Given the description of an element on the screen output the (x, y) to click on. 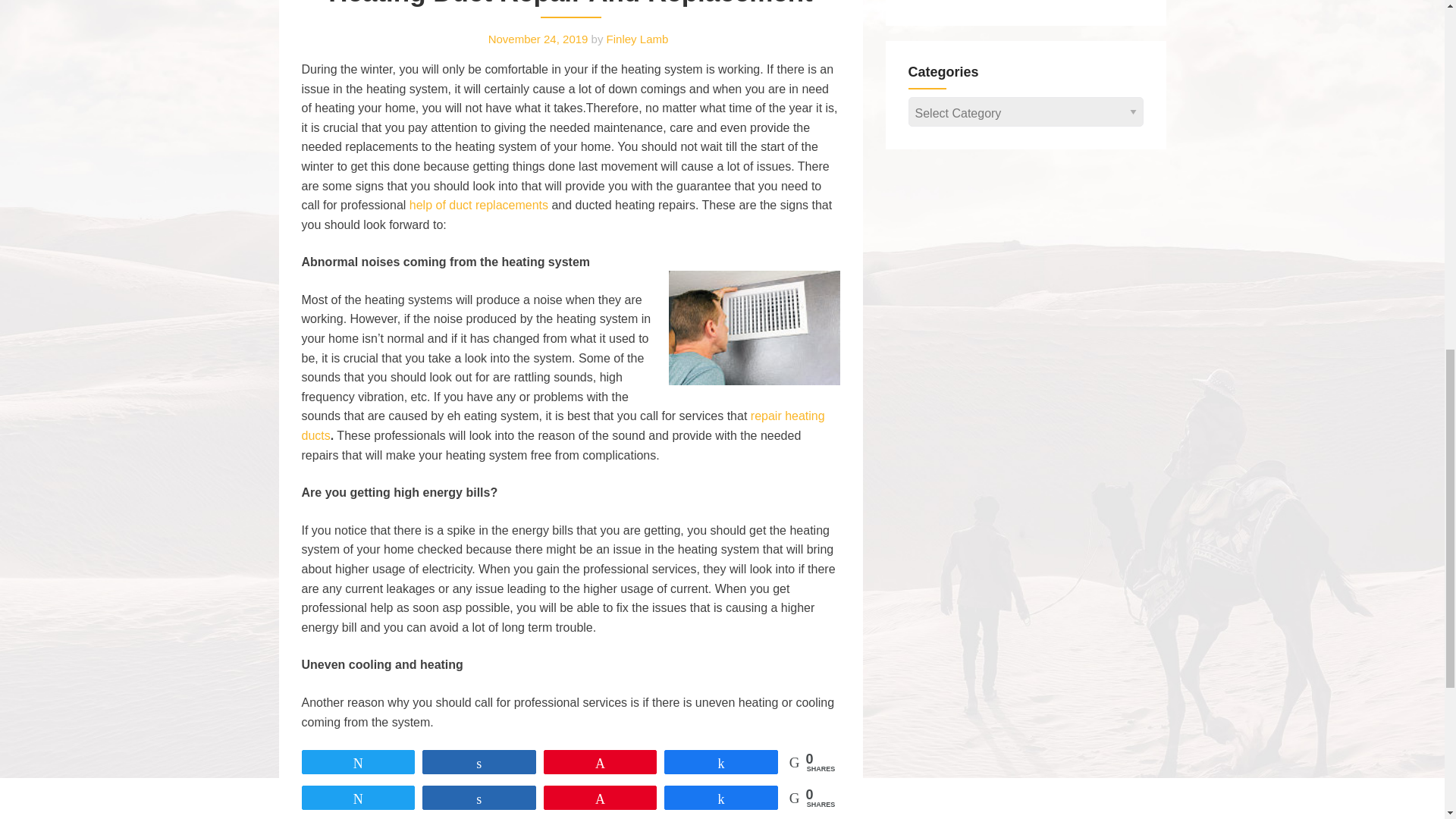
November 24, 2019 (537, 38)
repair heating ducts (563, 425)
duct-fixer.jpg (754, 327)
help of duct replacements (478, 205)
